Given the description of an element on the screen output the (x, y) to click on. 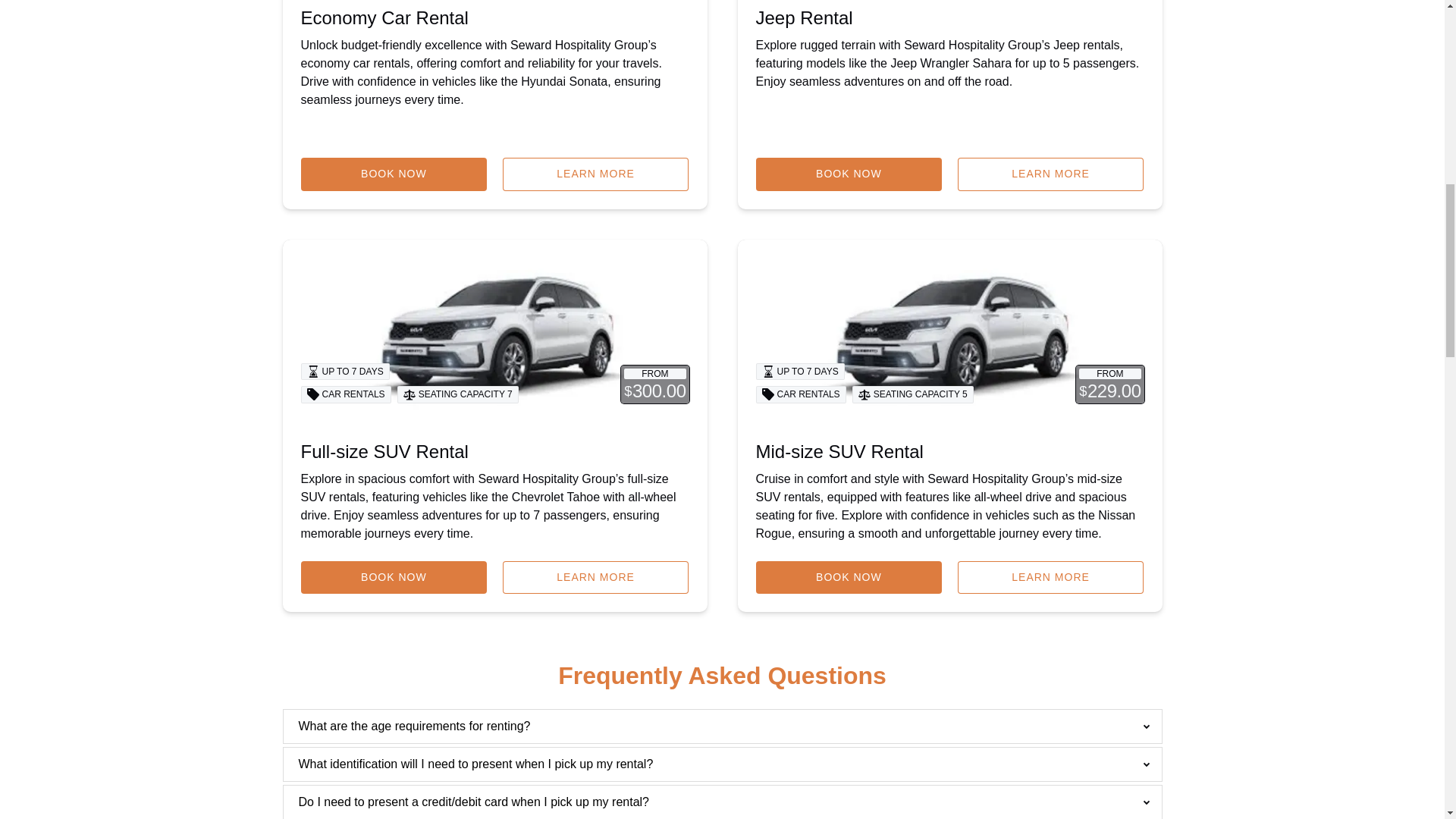
FareHarbor (1342, 64)
